Given the description of an element on the screen output the (x, y) to click on. 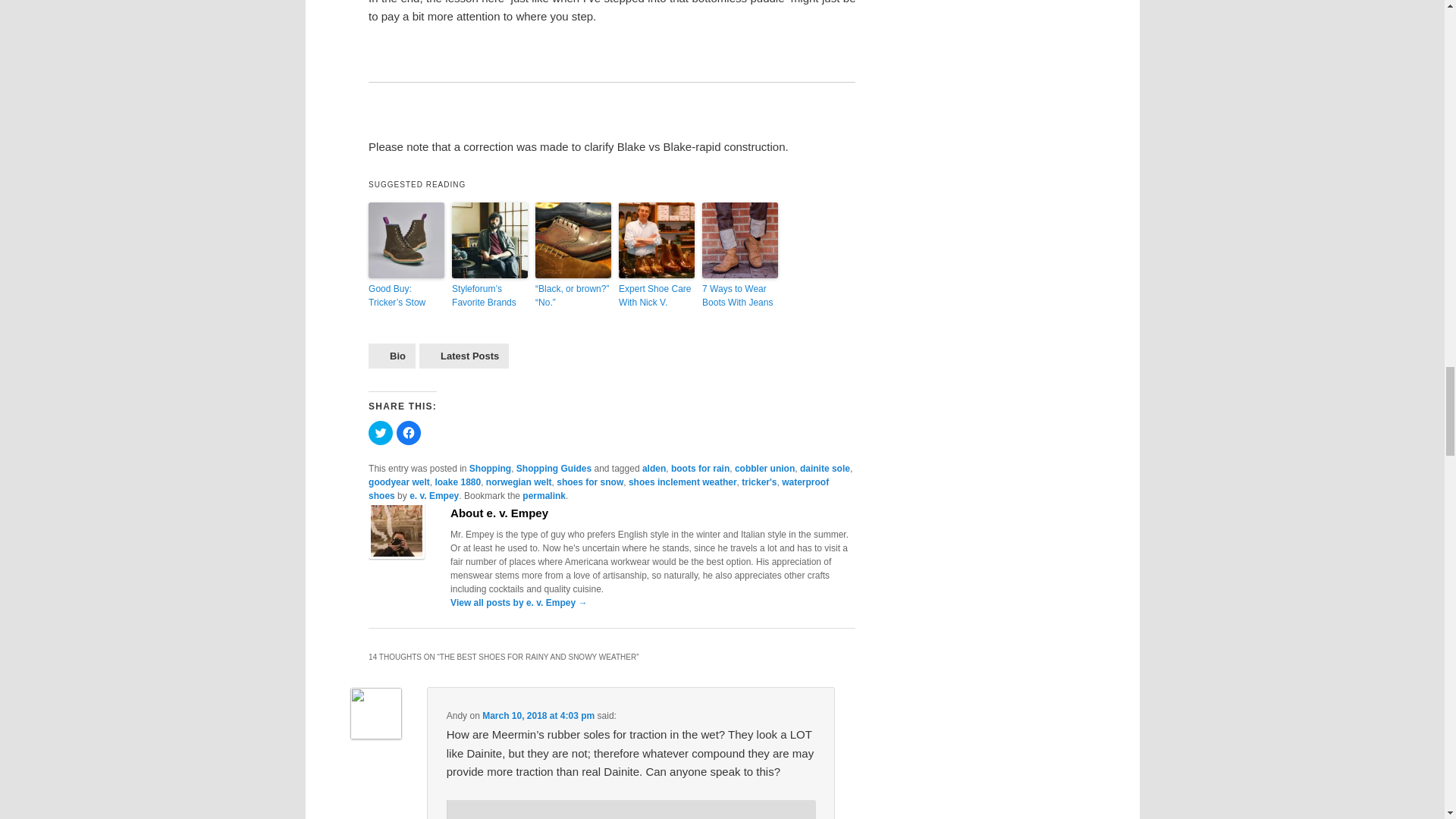
Click to share on Facebook (408, 432)
Click to share on Twitter (380, 432)
Permalink to The Best Shoes for Rainy and Snowy Weather (544, 495)
